Given the description of an element on the screen output the (x, y) to click on. 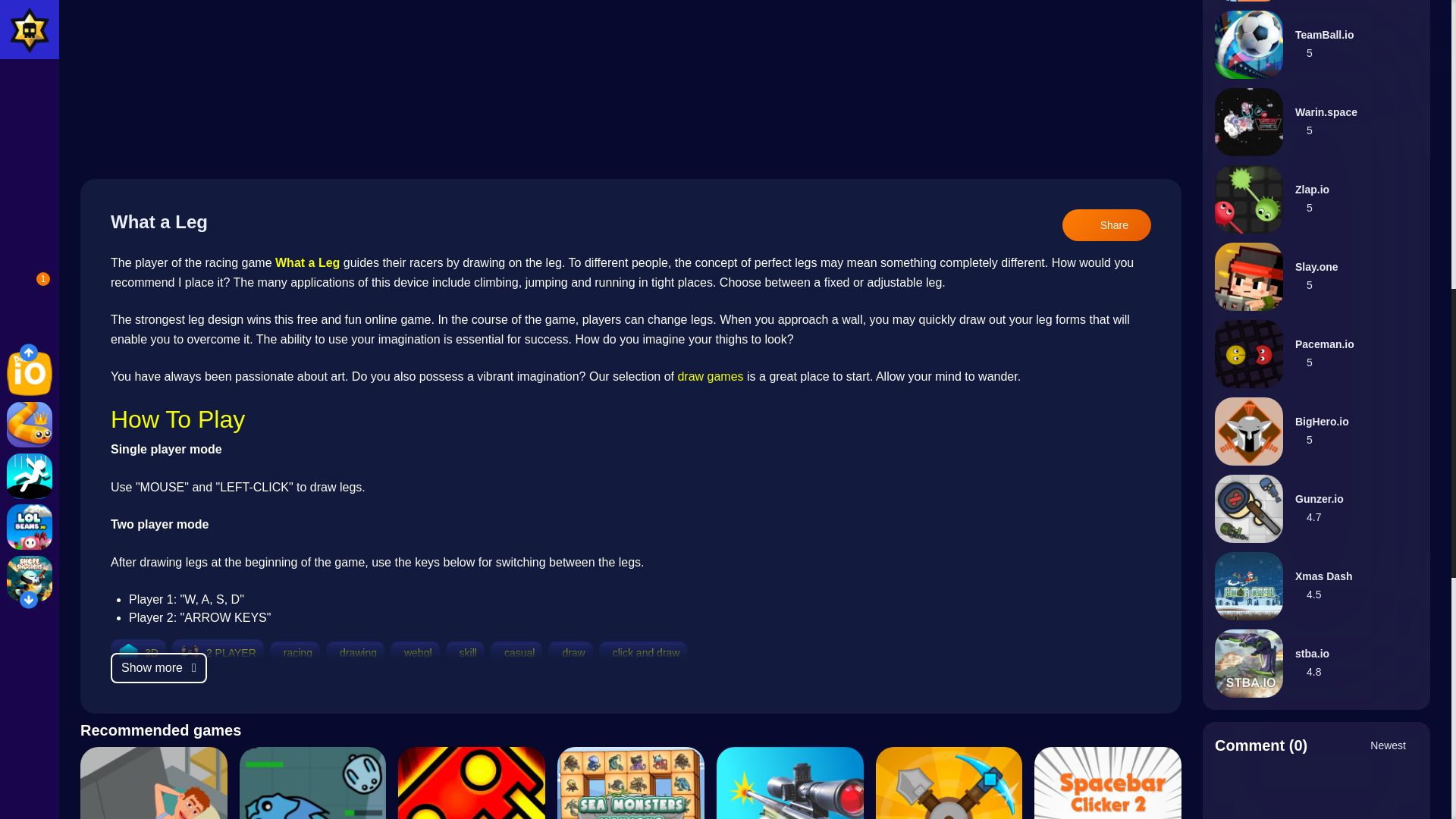
Be the first to comment (1319, 793)
Be the first to comment (1319, 793)
What a Leg (307, 262)
3D (151, 653)
draw games (709, 376)
